Given the description of an element on the screen output the (x, y) to click on. 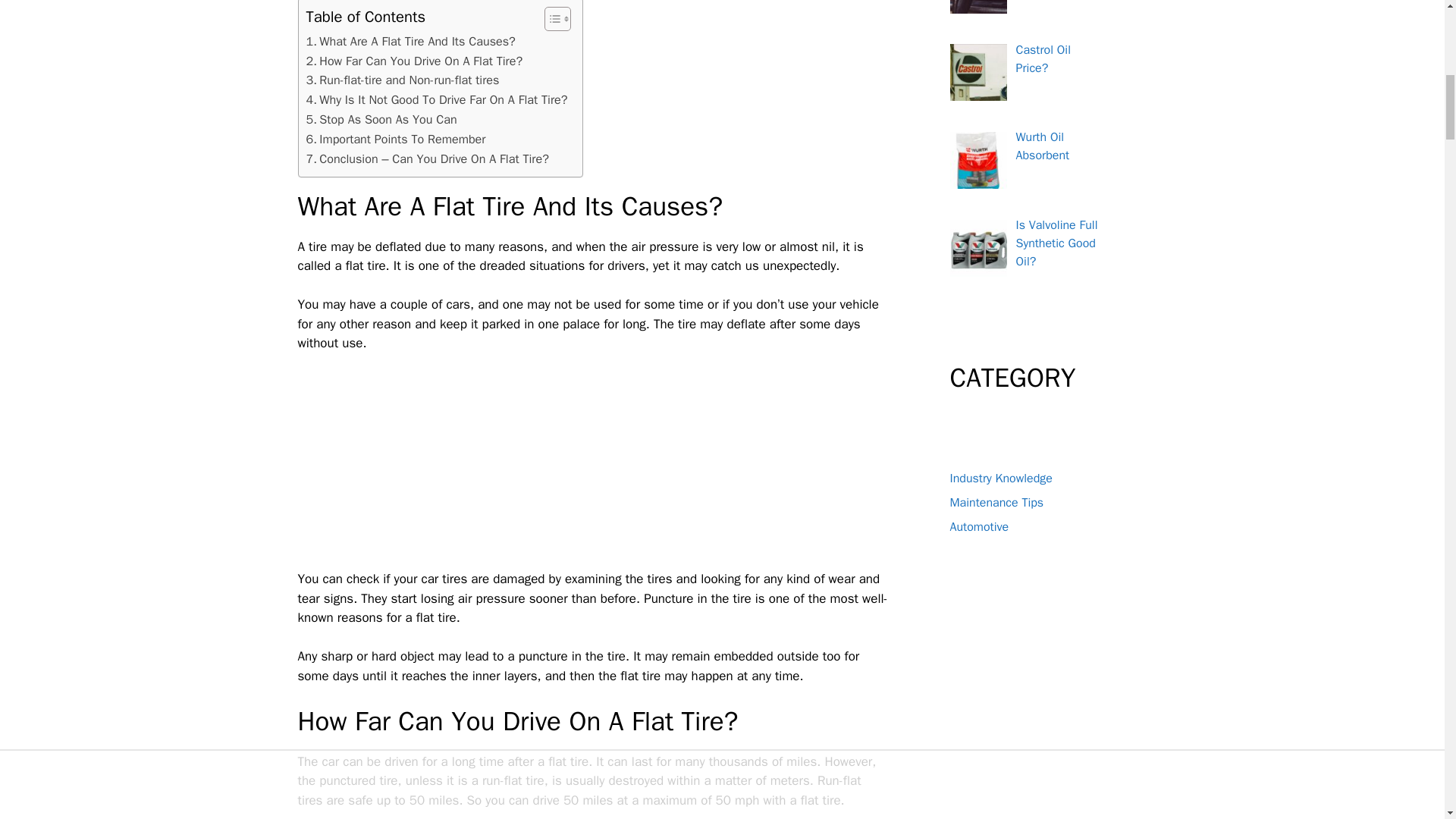
Why Is It Not Good To Drive Far On A Flat Tire? (436, 99)
Run-flat-tire and Non-run-flat tires (402, 80)
What Are A Flat Tire And Its Causes? (410, 41)
